Given the description of an element on the screen output the (x, y) to click on. 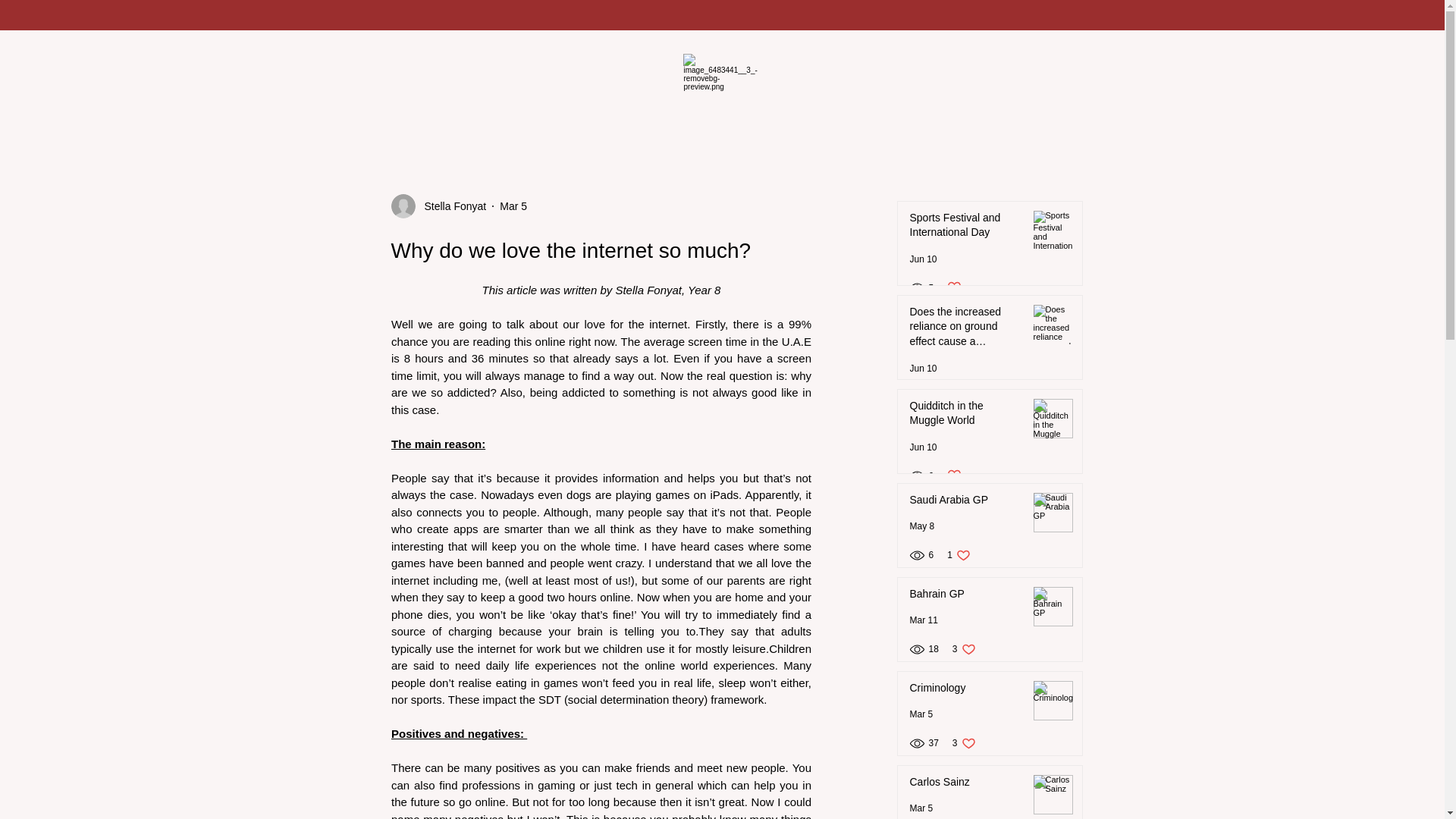
Post not marked as liked (953, 475)
Carlos Sainz (966, 785)
Mar 5 (513, 205)
Mar 5 (921, 808)
Jun 10 (923, 368)
Sports Festival and International Day (966, 228)
Saudi Arabia GP (966, 503)
Post not marked as liked (963, 649)
